Given the description of an element on the screen output the (x, y) to click on. 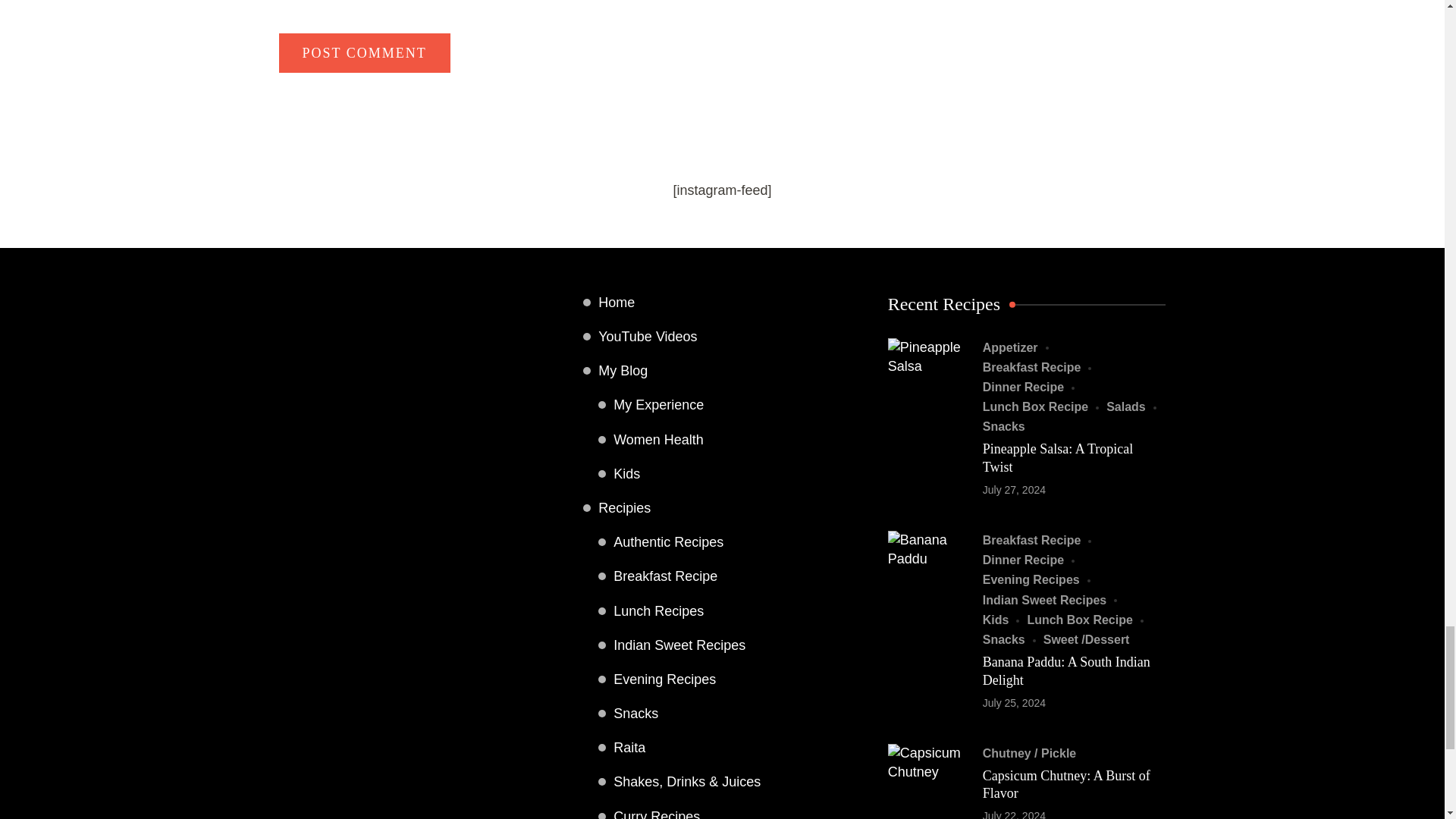
Post Comment (364, 52)
